Given the description of an element on the screen output the (x, y) to click on. 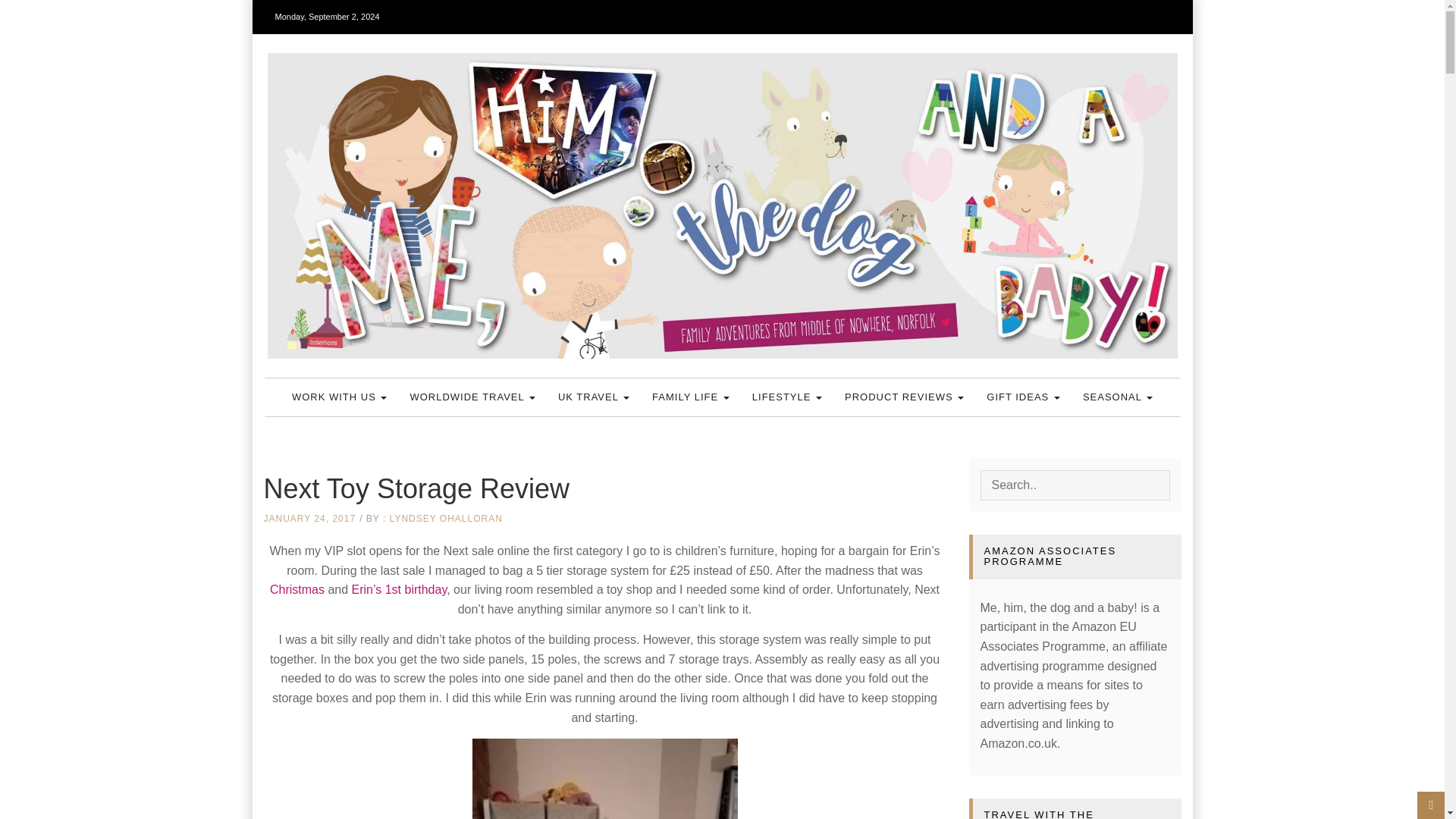
Work With Us (339, 397)
WORK WITH US (339, 397)
UK TRAVEL (593, 397)
Worldwide Travel (471, 397)
WORLDWIDE TRAVEL (471, 397)
